Given the description of an element on the screen output the (x, y) to click on. 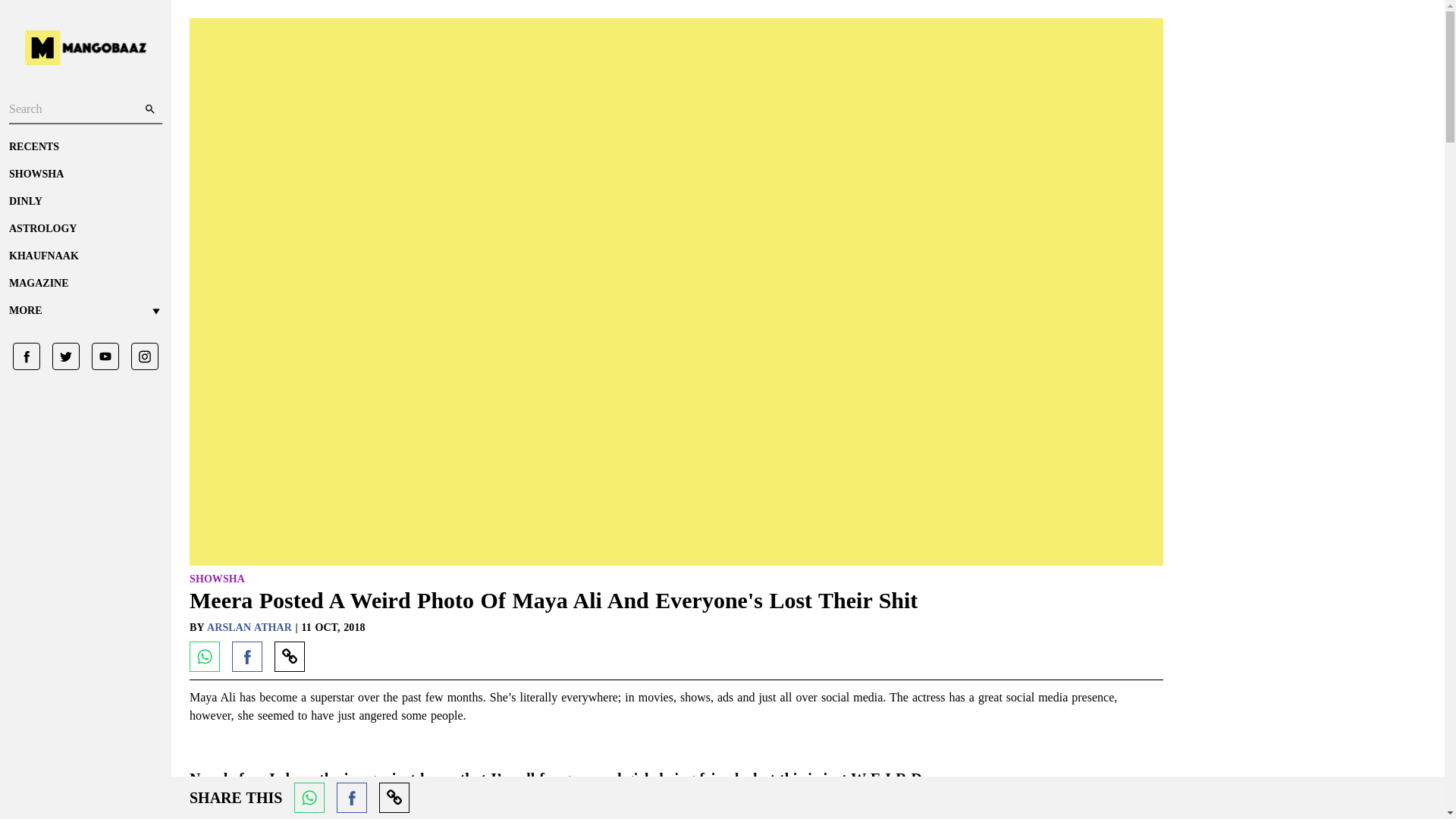
Link to Instagram (138, 356)
Link to Twitter (60, 356)
RECENTS (84, 146)
ARSLAN ATHAR (250, 627)
KHAUFNAAK (84, 256)
Copy URL (393, 797)
SHOWSHA (216, 578)
MAGAZINE (84, 283)
ASTROLOGY (84, 228)
Copy URL (289, 656)
